Given the description of an element on the screen output the (x, y) to click on. 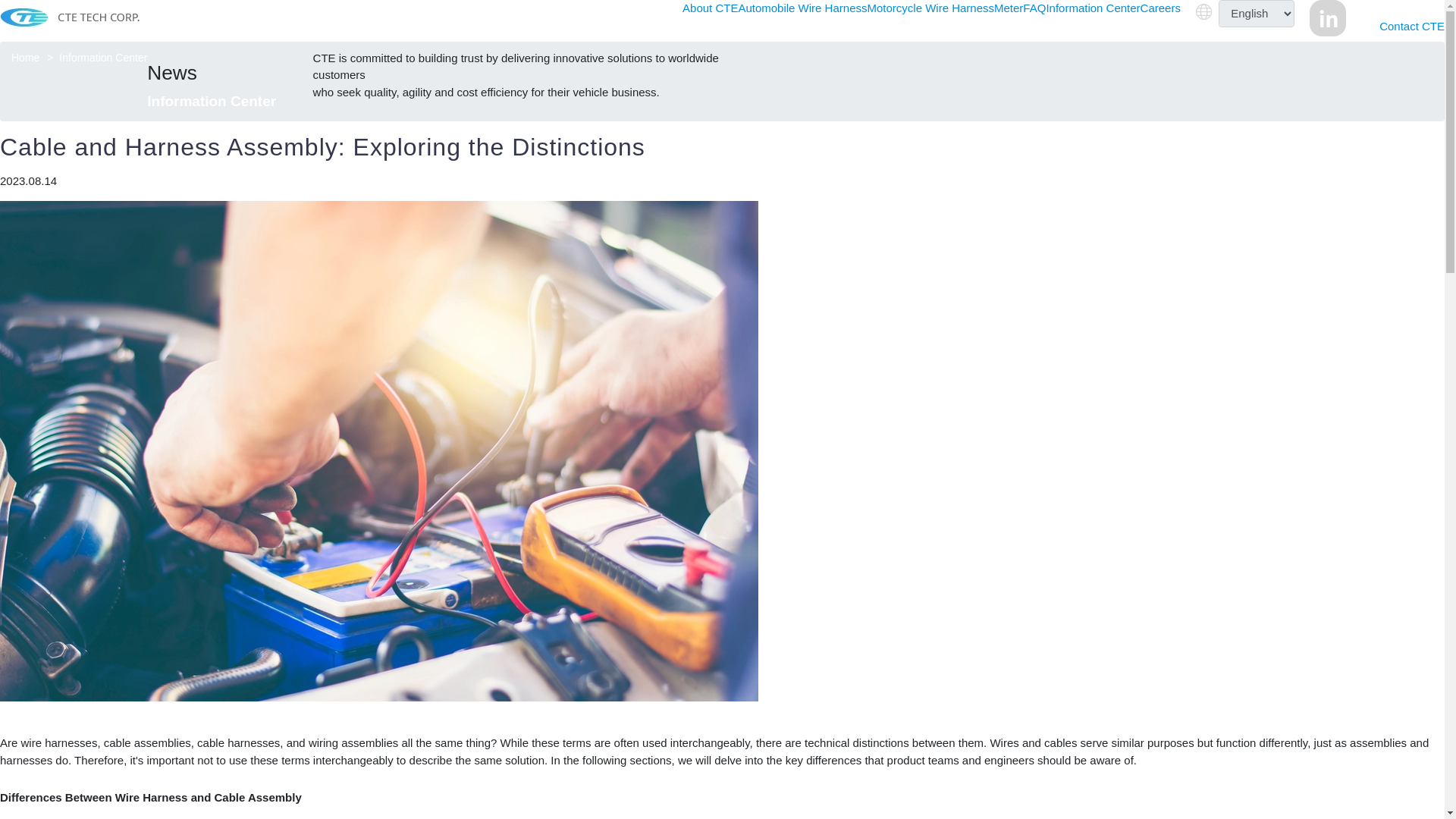
Automobile Wire Harness (802, 7)
Meter (1008, 7)
Information Center (1092, 7)
Home (25, 57)
About CTE (710, 7)
Information Center (103, 57)
FAQ (1034, 7)
Motorcycle Wire Harness (930, 7)
Careers (1160, 7)
